Given the description of an element on the screen output the (x, y) to click on. 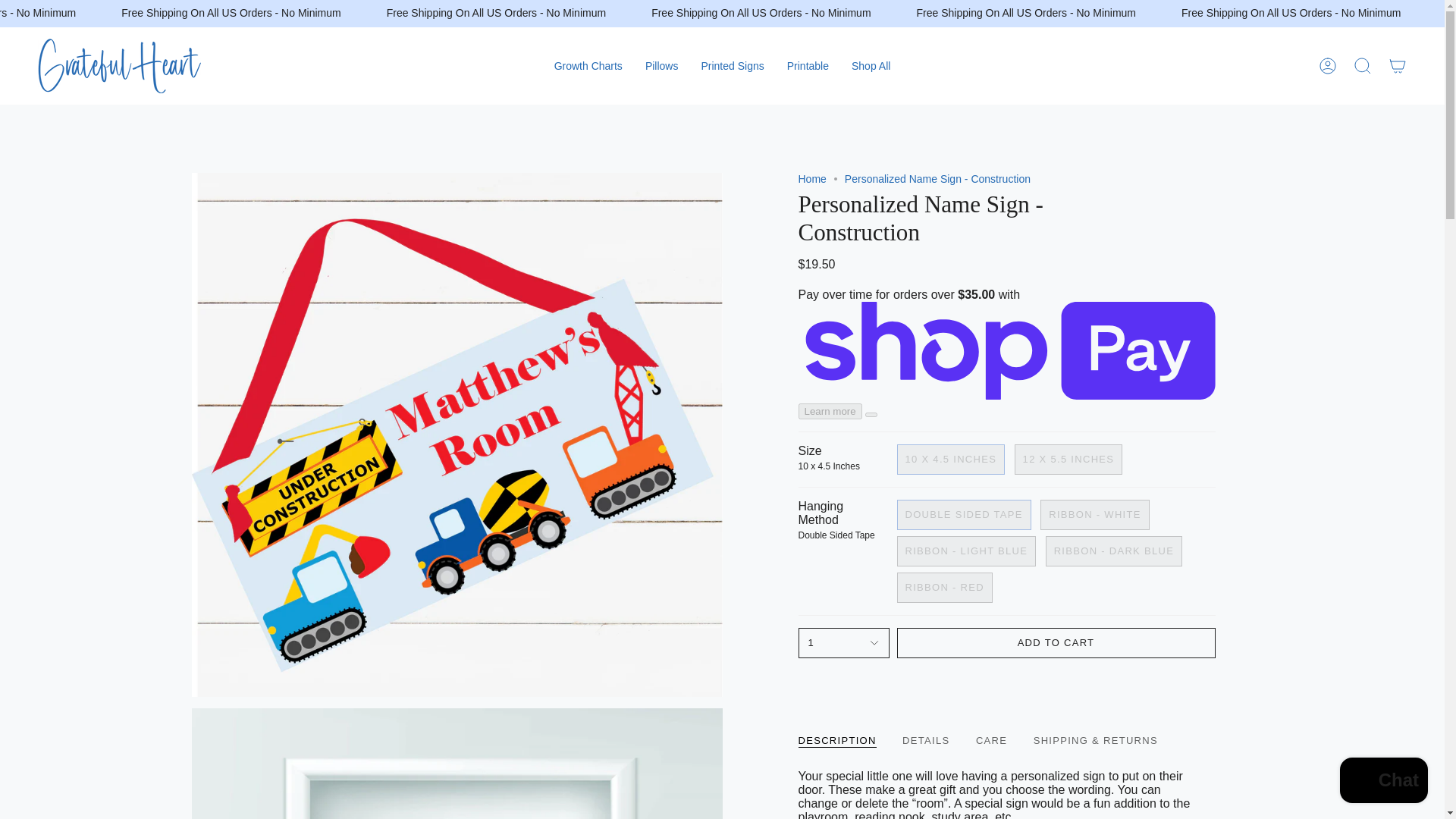
Cart (1397, 65)
Shop All (870, 65)
Search (1362, 65)
Growth Charts (588, 65)
Pillows (661, 65)
Printable (808, 65)
My Account (1327, 65)
Printed Signs (731, 65)
Cart (1397, 65)
Shopify online store chat (1383, 781)
